Given the description of an element on the screen output the (x, y) to click on. 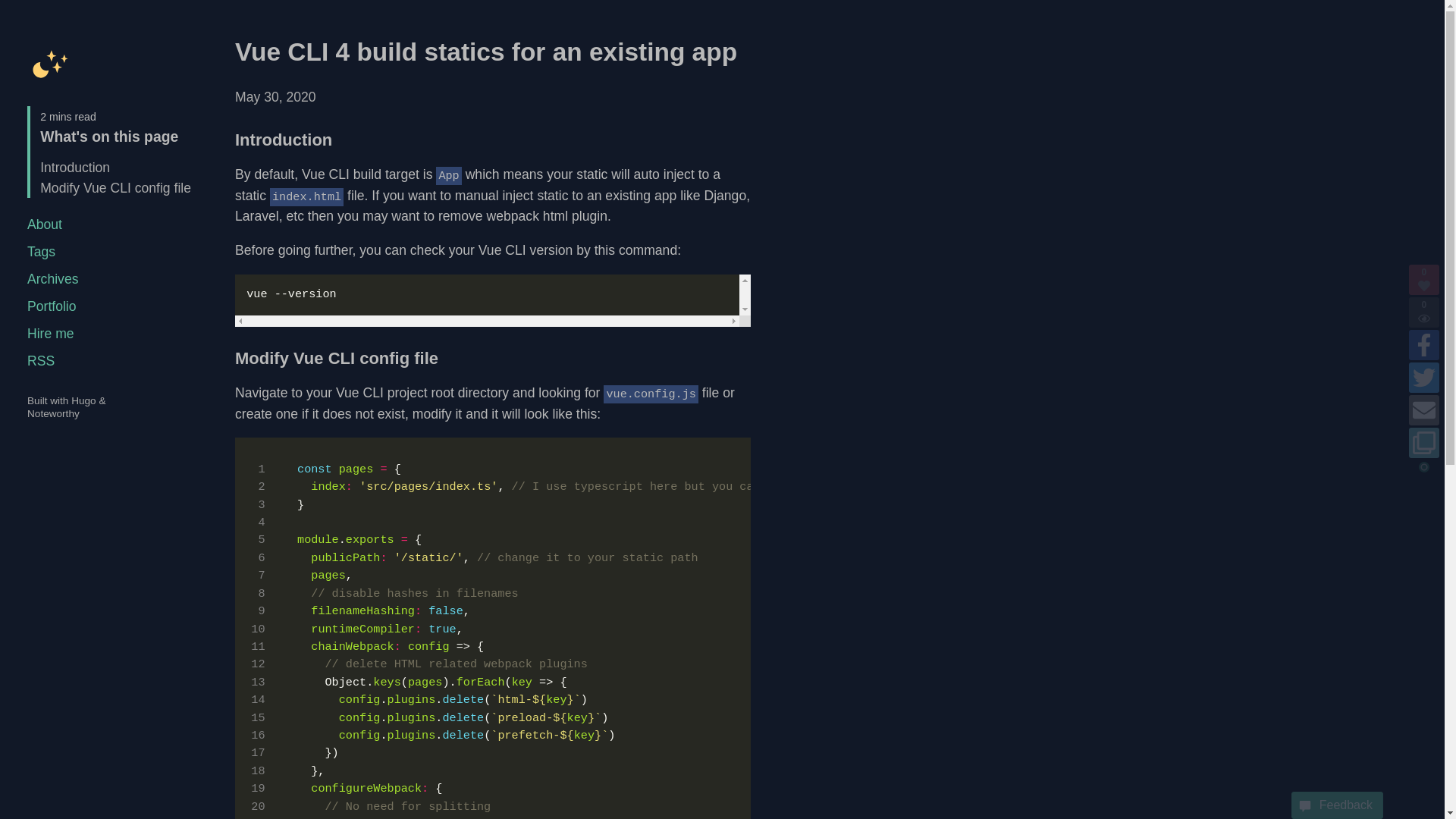
Introduction (75, 167)
Feedback (1337, 805)
Portfolio (52, 306)
Cozi (49, 62)
Noteworthy (53, 413)
Hire me (50, 333)
Hugo (83, 400)
Archives (52, 279)
About (44, 224)
Tags (41, 251)
